Given the description of an element on the screen output the (x, y) to click on. 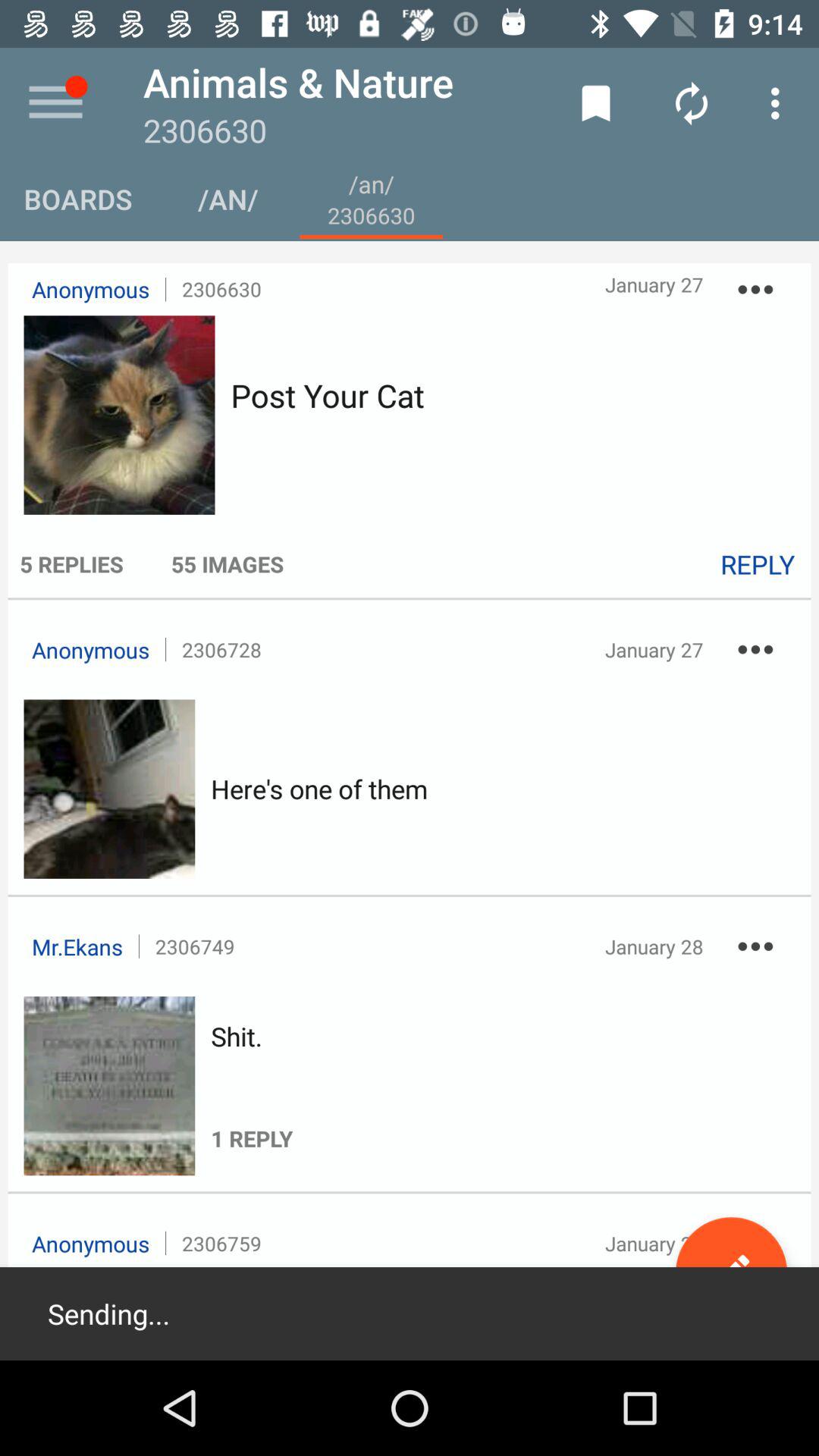
launch item to the left of animals & nature (55, 103)
